Given the description of an element on the screen output the (x, y) to click on. 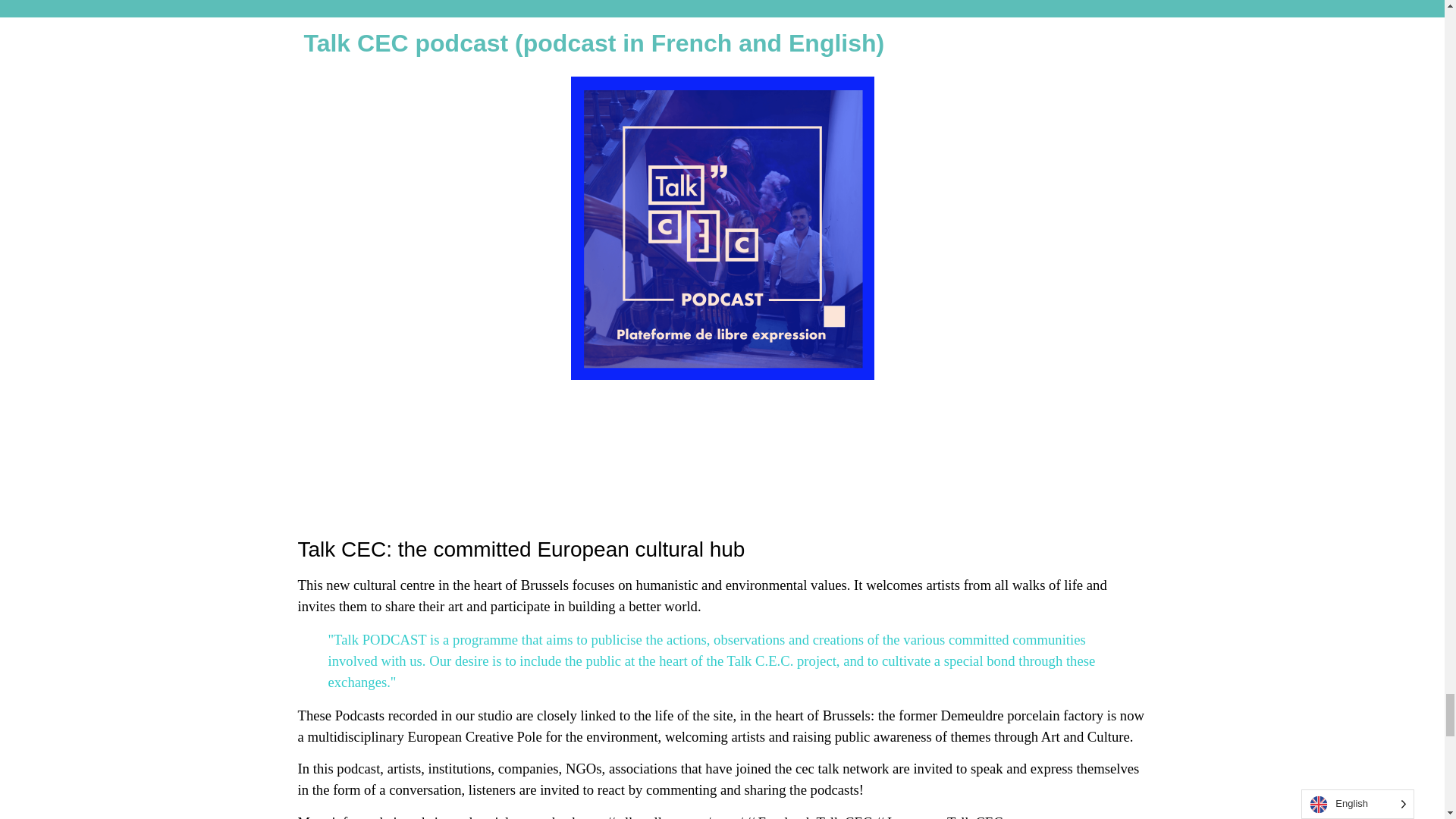
talk cec podcast (721, 228)
